Given the description of an element on the screen output the (x, y) to click on. 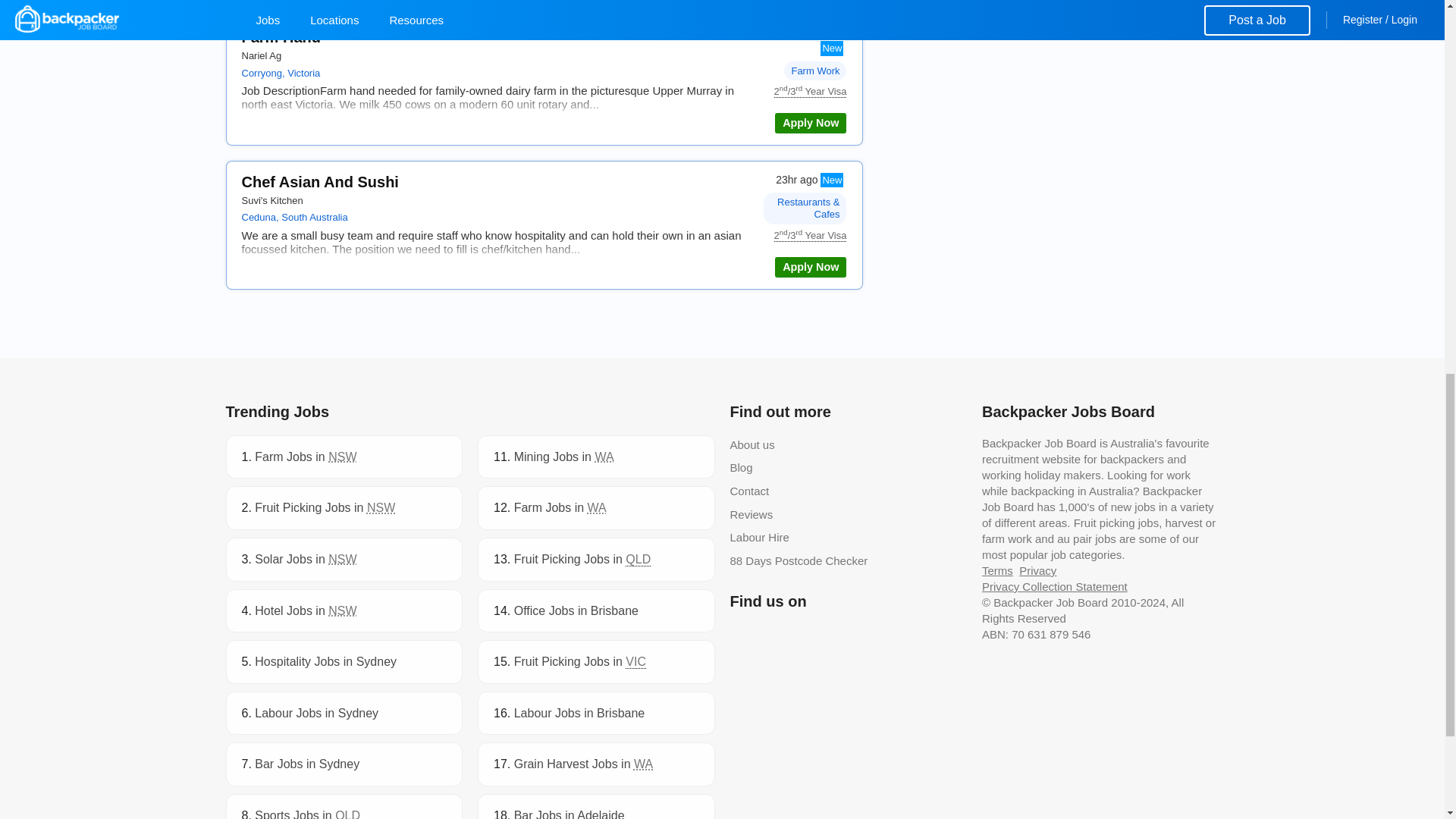
Fruit Picking Jobs in NSW (324, 507)
Farm Hand (280, 36)
Farm Jobs in NSW (305, 456)
Chef Asian And Sushi (319, 181)
Apply Now (809, 122)
Chef Asian And Sushi (319, 181)
Farm Hand (809, 122)
Farm Hand (280, 36)
Apply Now (809, 266)
Chef Asian And Sushi (809, 266)
